Given the description of an element on the screen output the (x, y) to click on. 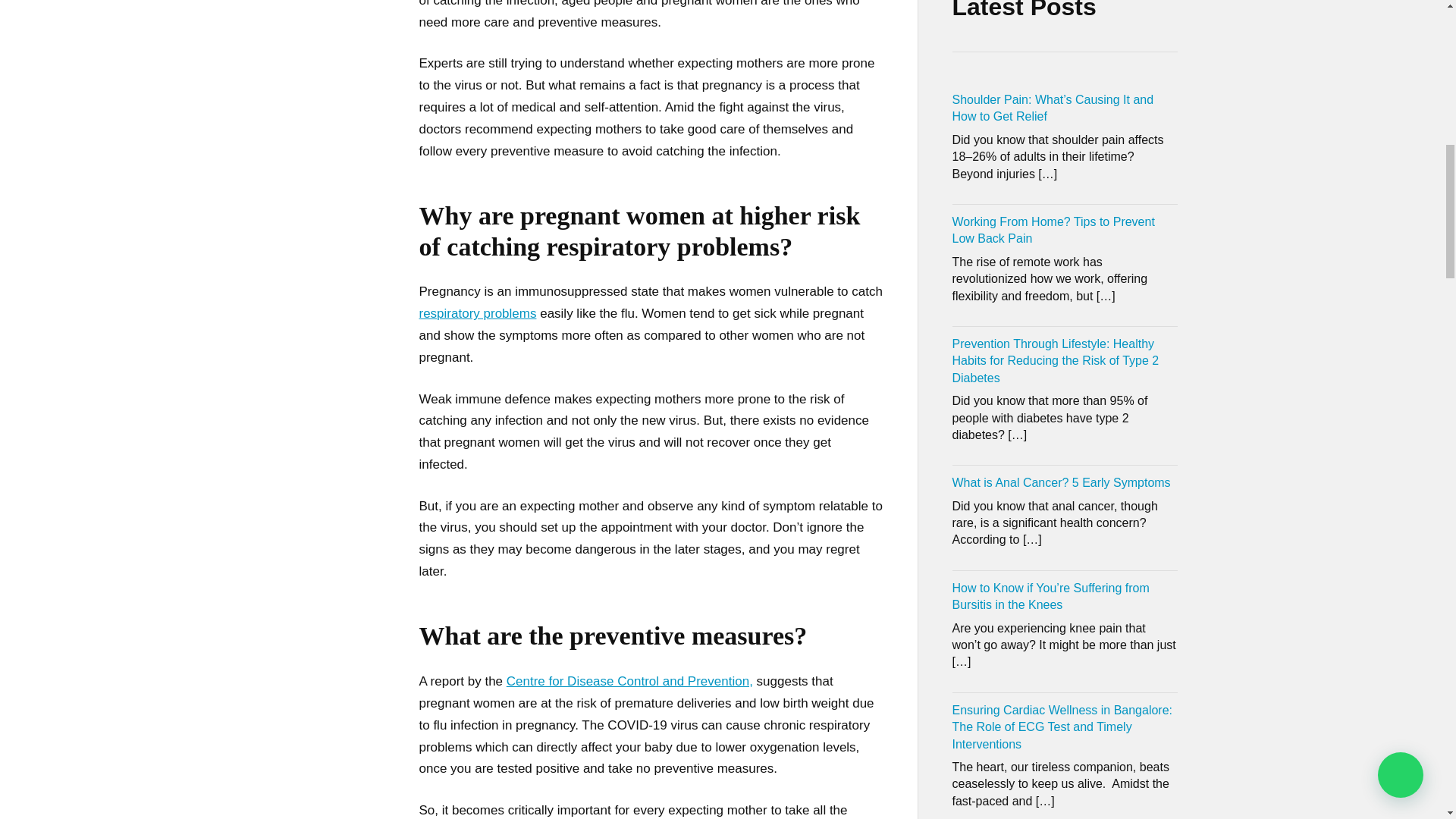
respiratory problems (477, 313)
Centre for Disease Control and Prevention, (629, 681)
